Given the description of an element on the screen output the (x, y) to click on. 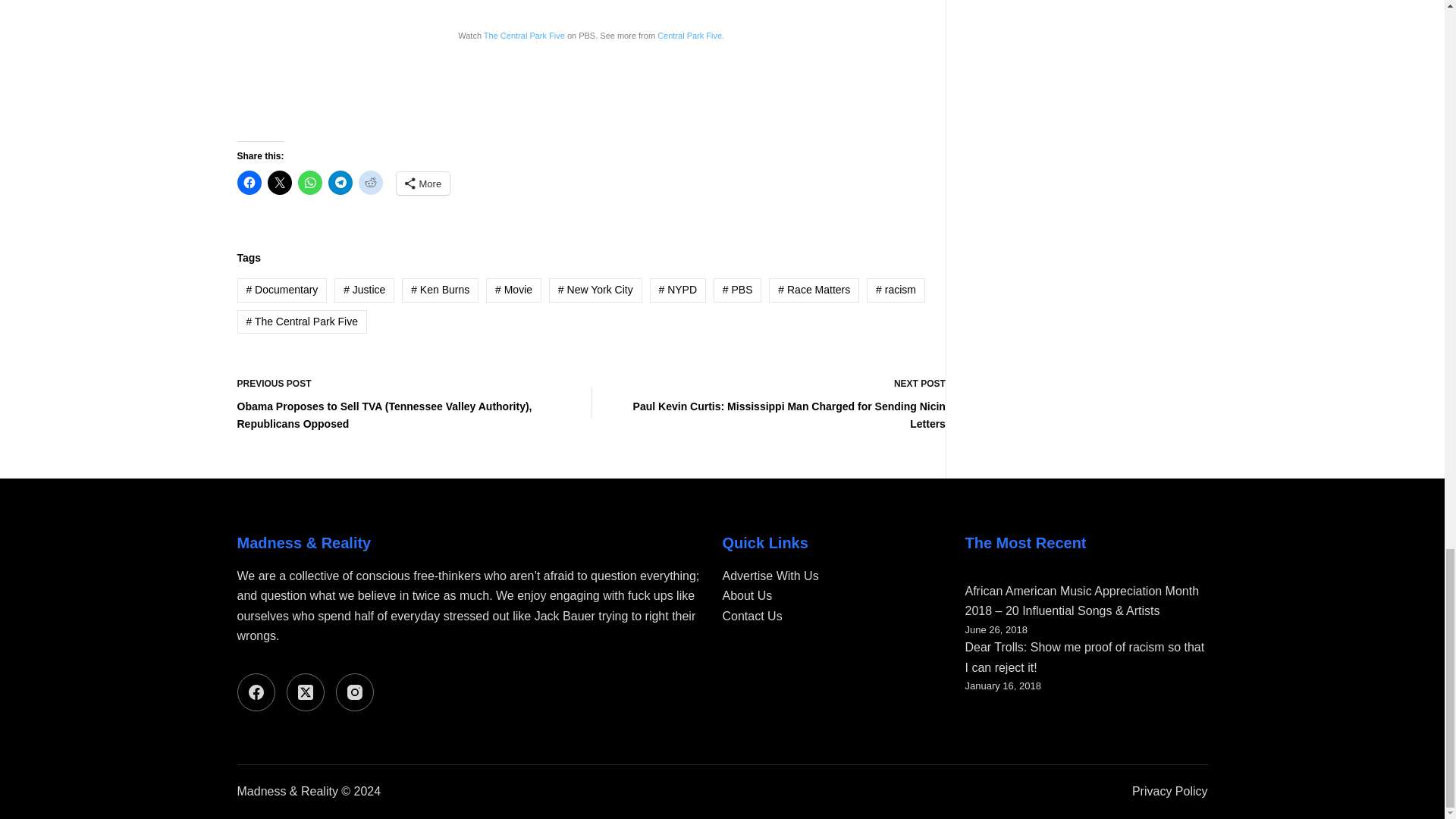
Click to share on Reddit (369, 182)
More (422, 182)
The Central Park Five (523, 35)
Click to share on WhatsApp (309, 182)
Click to share on Facebook (247, 182)
Central Park Five. (690, 35)
Click to share on Telegram (339, 182)
Click to share on X (278, 182)
